Given the description of an element on the screen output the (x, y) to click on. 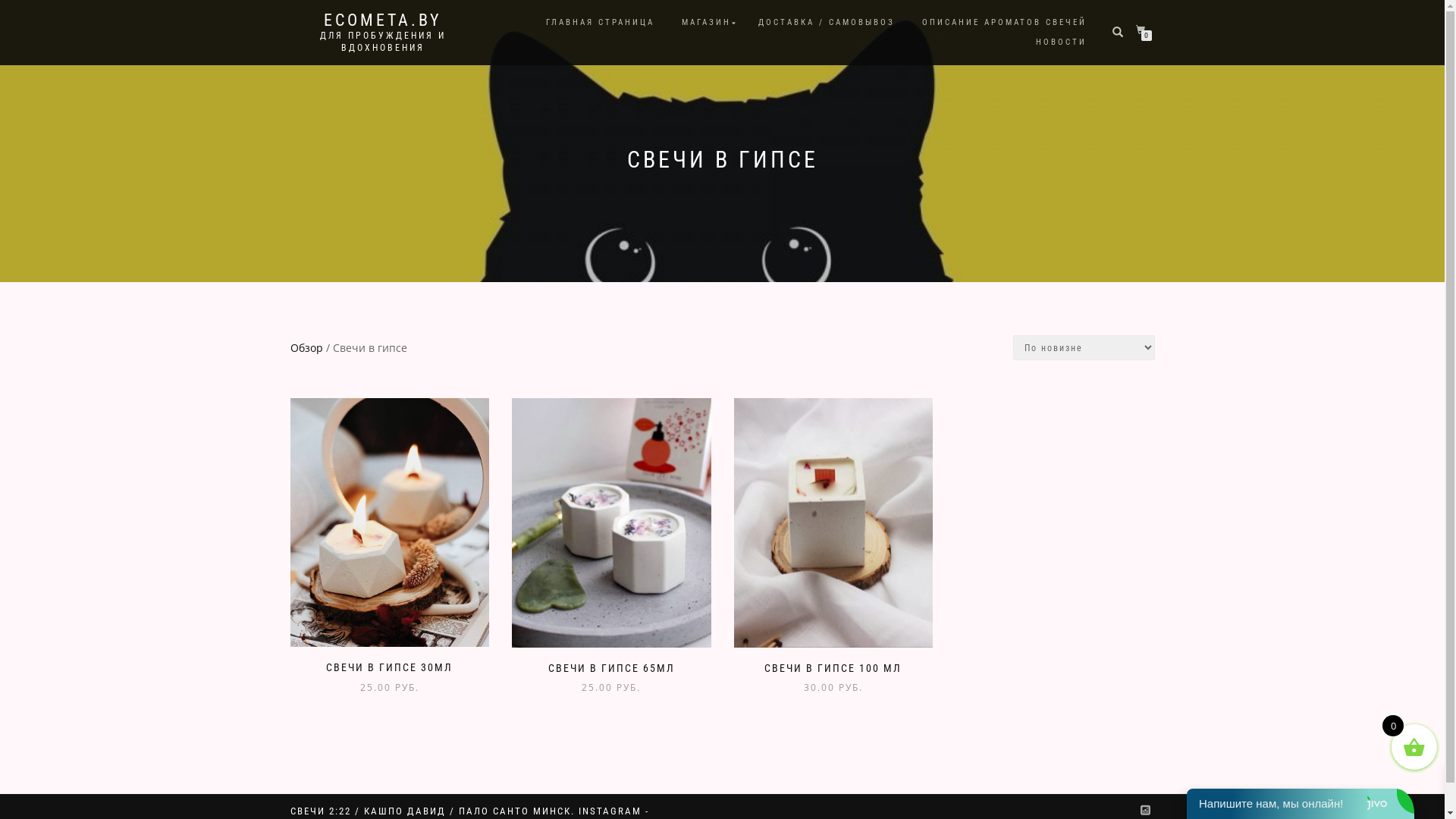
ECOMETA.BY Element type: text (382, 20)
0 Element type: text (1143, 30)
svecha-v-betone Element type: hover (832, 522)
